Given the description of an element on the screen output the (x, y) to click on. 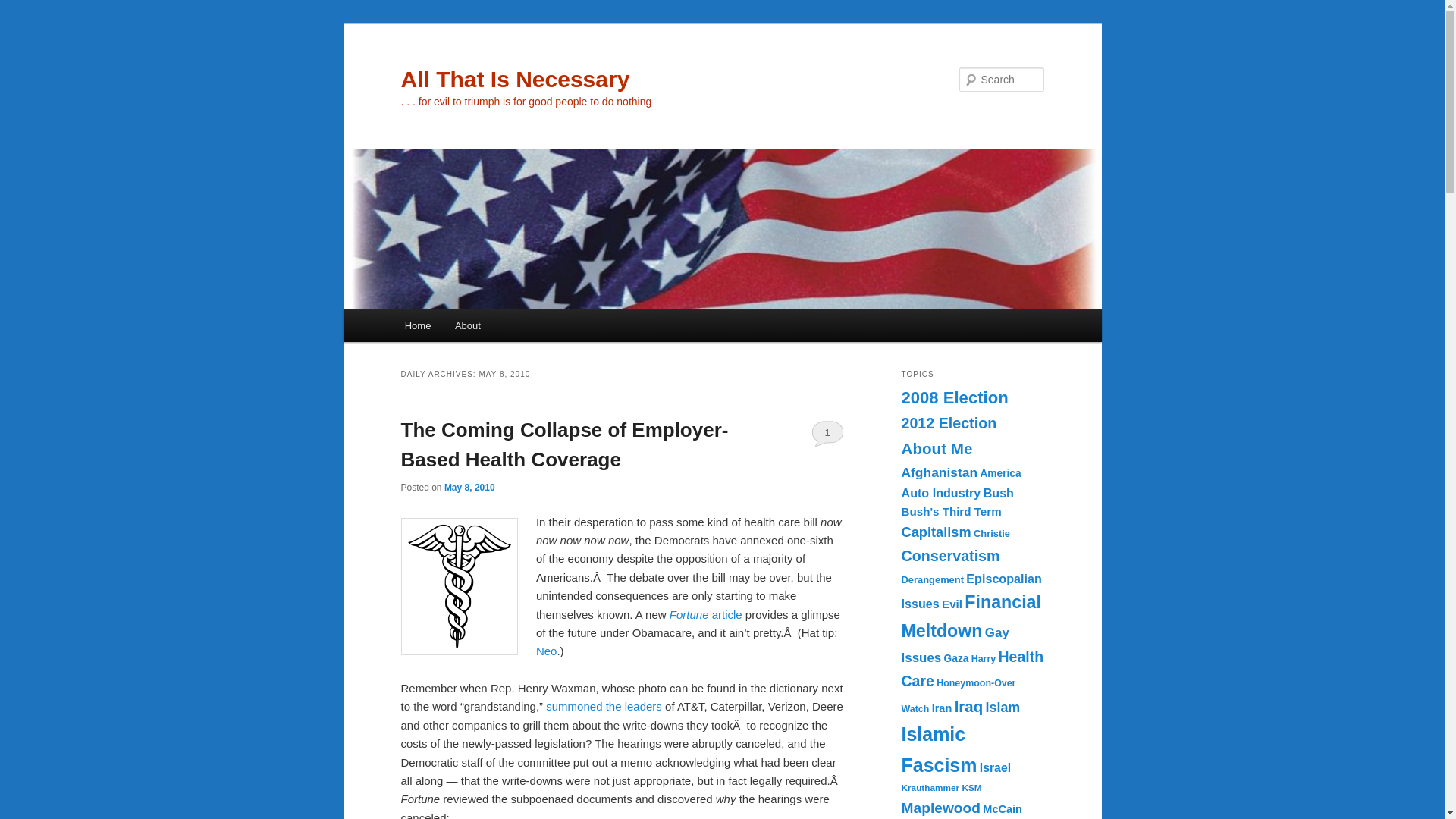
About Me (936, 448)
Auto Industry (940, 492)
Bush (998, 492)
summoned the leaders (604, 706)
2008 Election (954, 397)
Financial Meltdown (971, 616)
Gay Issues (955, 645)
Derangement (931, 579)
Gaza (956, 658)
